Given the description of an element on the screen output the (x, y) to click on. 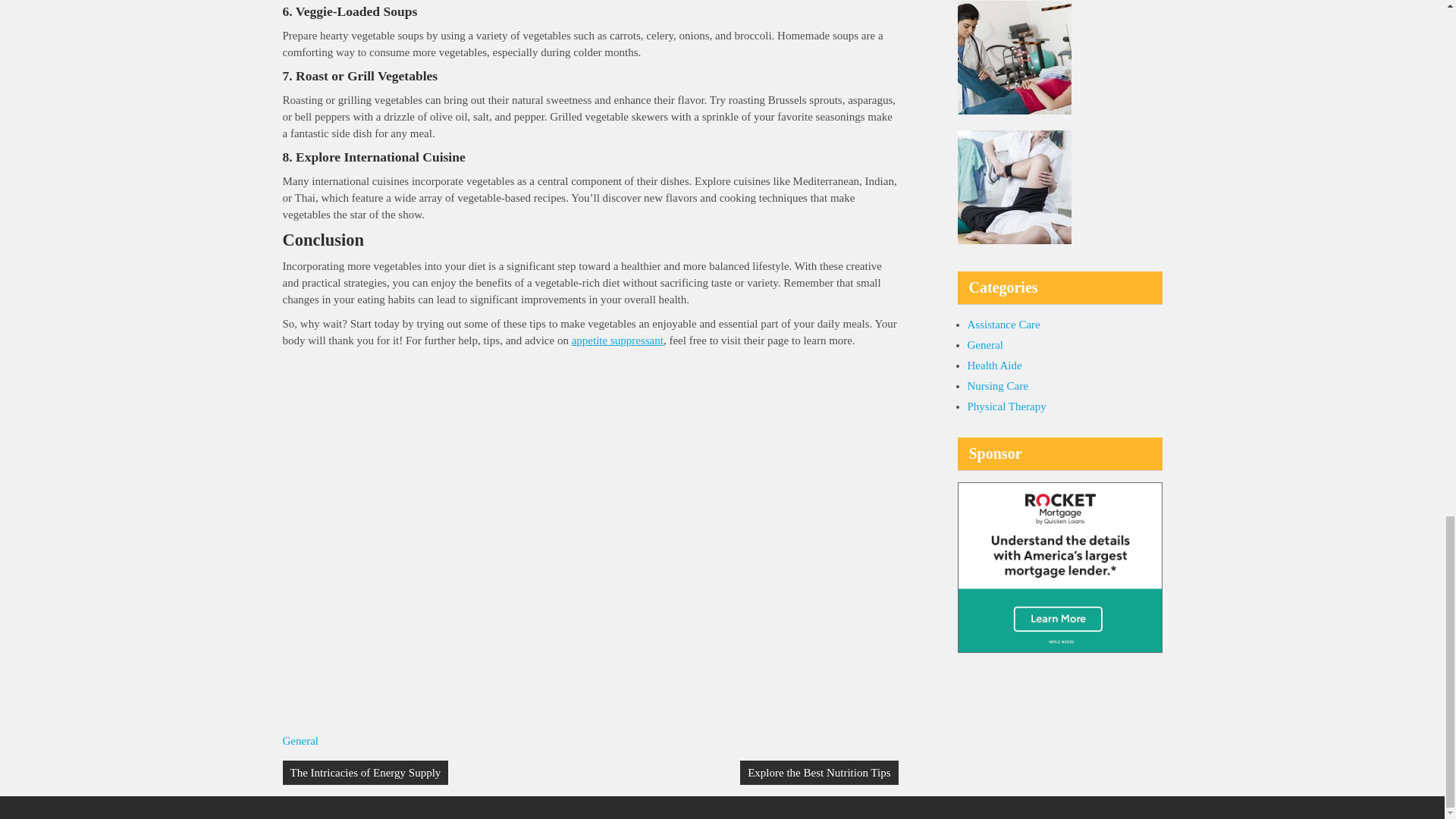
Health Aide (995, 365)
Nursing Care (997, 386)
Physical Therapy (1007, 406)
The Intricacies of Energy Supply (365, 772)
General (985, 345)
appetite suppressant (617, 340)
General (299, 740)
Explore the Best Nutrition Tips (818, 772)
Assistance Care (1004, 324)
